Given the description of an element on the screen output the (x, y) to click on. 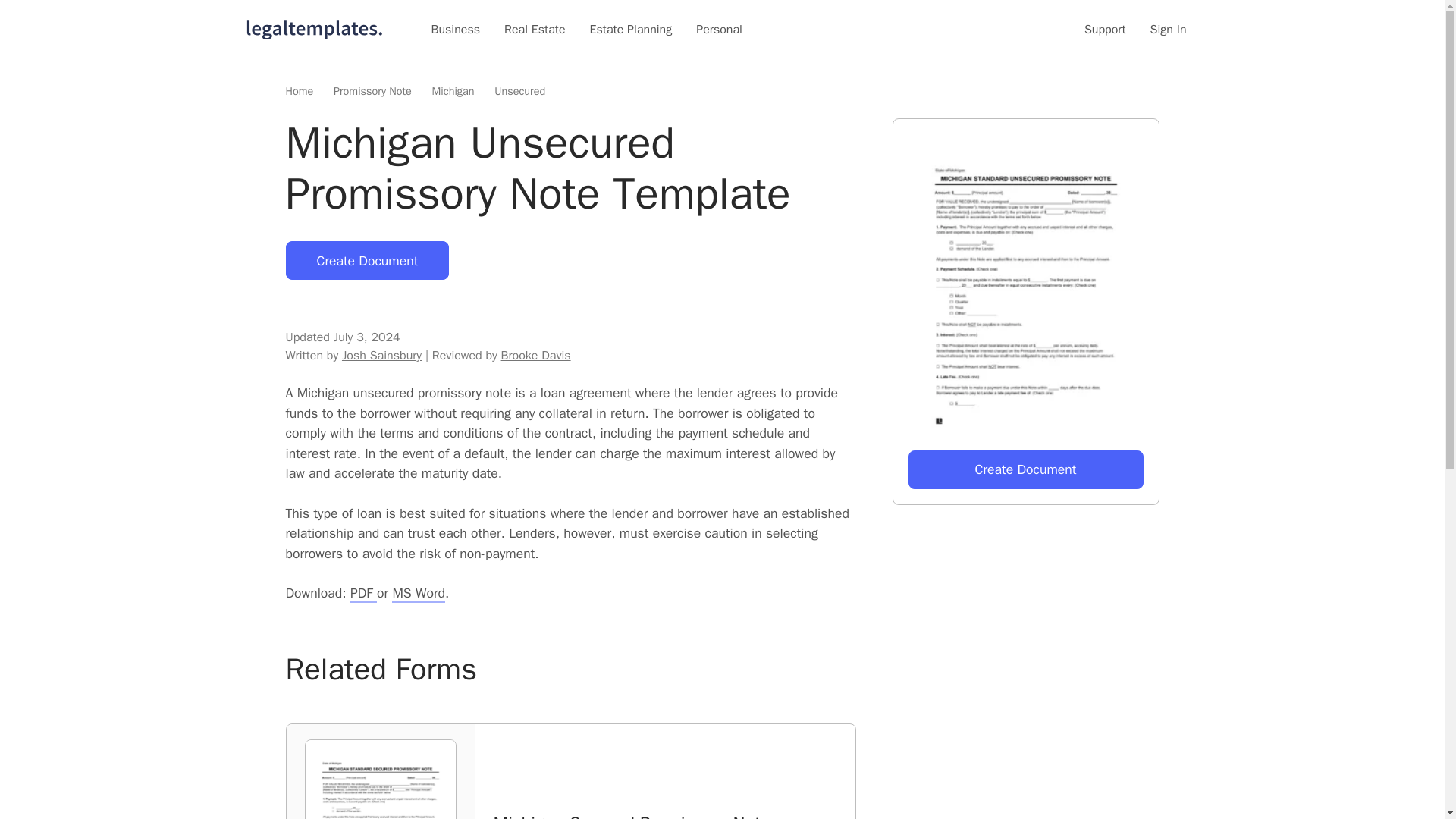
Legal Templates (313, 28)
Estate Planning (631, 29)
Real Estate (535, 29)
Personal (719, 29)
Business (455, 29)
Support (1104, 29)
